Given the description of an element on the screen output the (x, y) to click on. 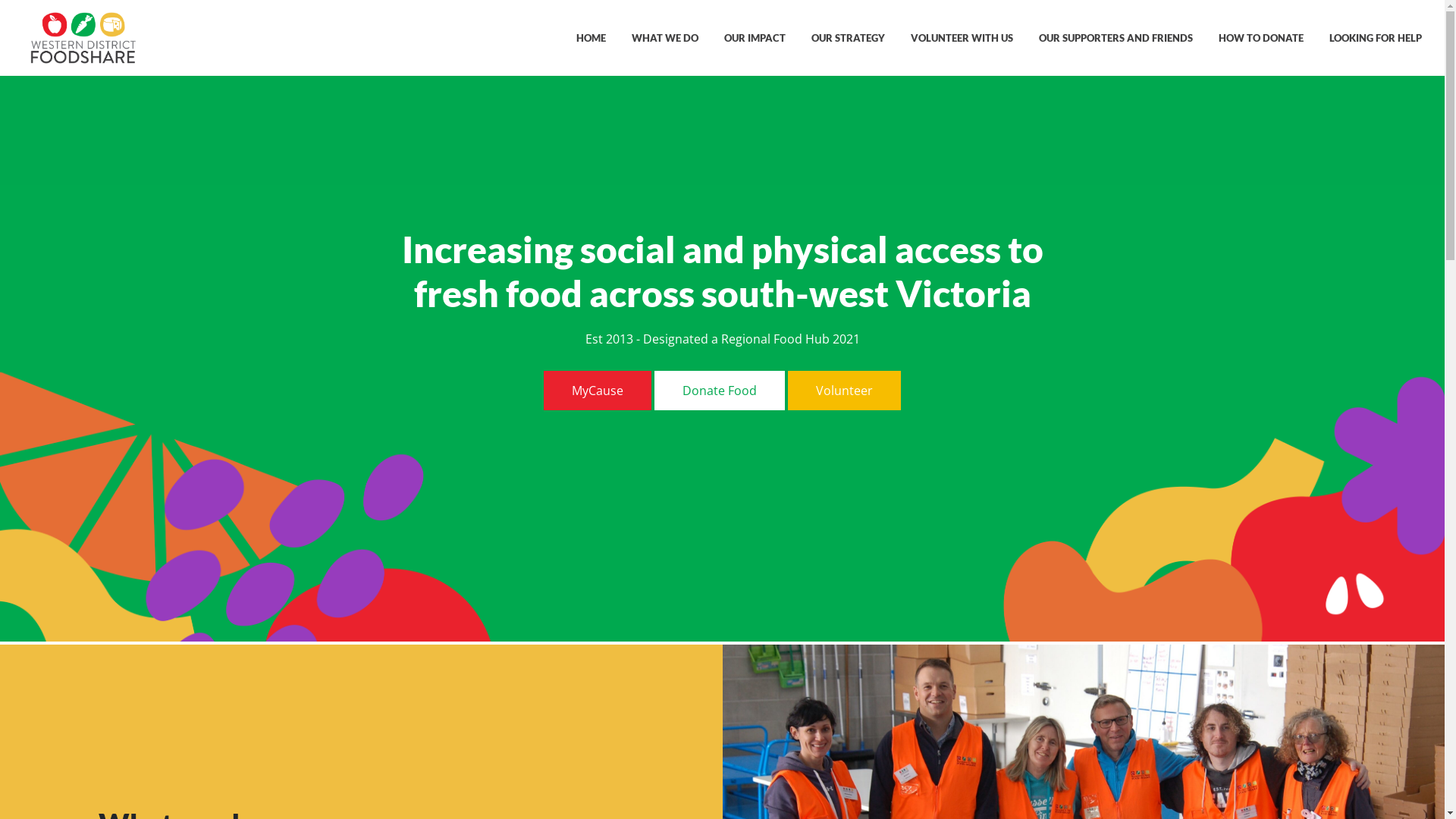
LOOKING FOR HELP Element type: text (1375, 37)
Volunteer Element type: text (843, 390)
Donate Food Element type: text (719, 390)
HOW TO DONATE Element type: text (1260, 37)
OUR STRATEGY Element type: text (848, 37)
VOLUNTEER WITH US Element type: text (961, 37)
WHAT WE DO Element type: text (664, 37)
OUR SUPPORTERS AND FRIENDS Element type: text (1115, 37)
HOME Element type: text (590, 37)
OUR IMPACT Element type: text (754, 37)
MyCause Element type: text (597, 390)
